Given the description of an element on the screen output the (x, y) to click on. 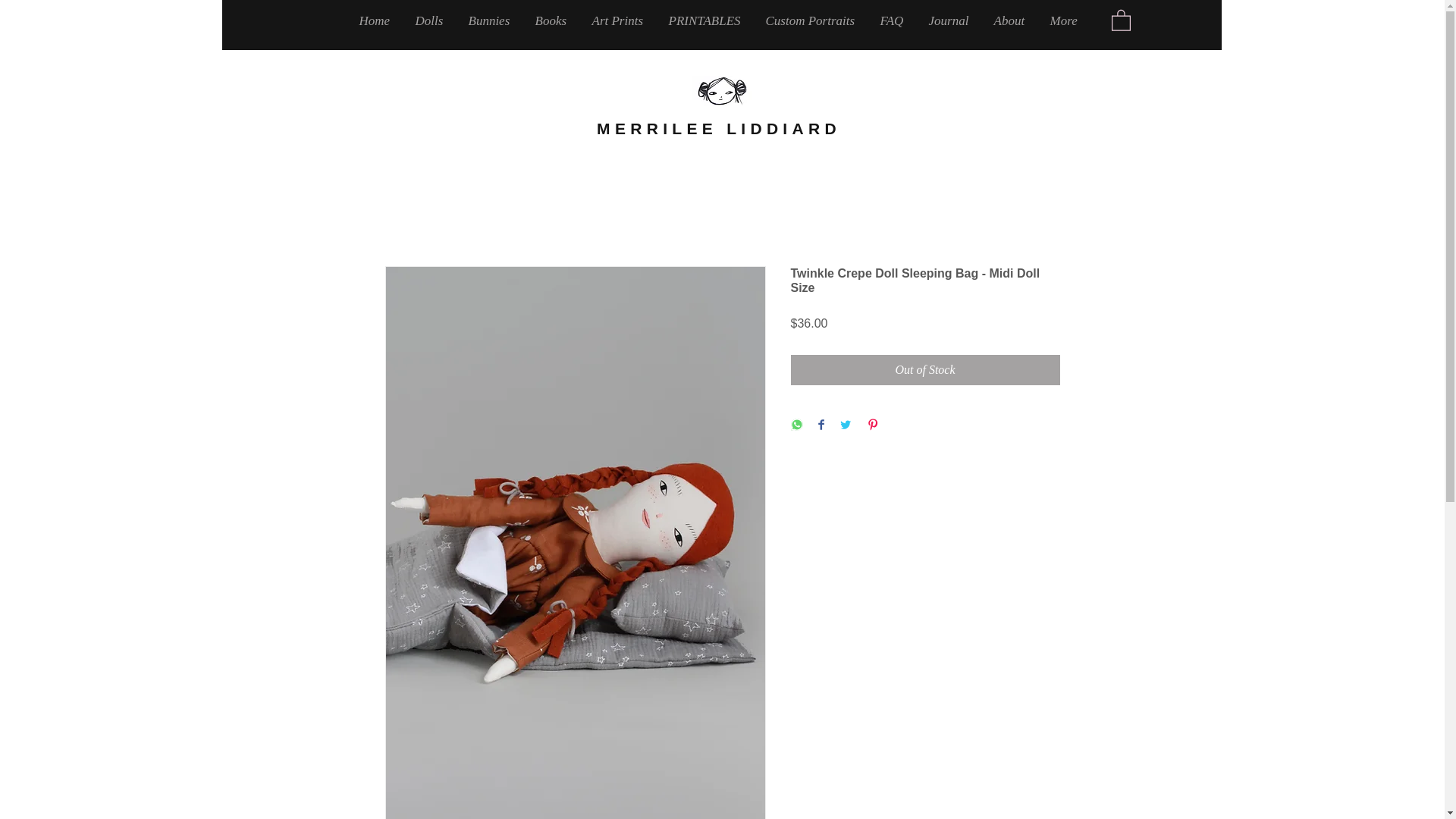
FAQ (893, 20)
Books (550, 20)
Out of Stock (924, 369)
MERRILEE LIDDIARD (718, 128)
PRINTABLES (705, 20)
About (1010, 20)
Home (375, 20)
Custom Portraits (810, 20)
Bunnies (489, 20)
Art Prints (619, 20)
